Given the description of an element on the screen output the (x, y) to click on. 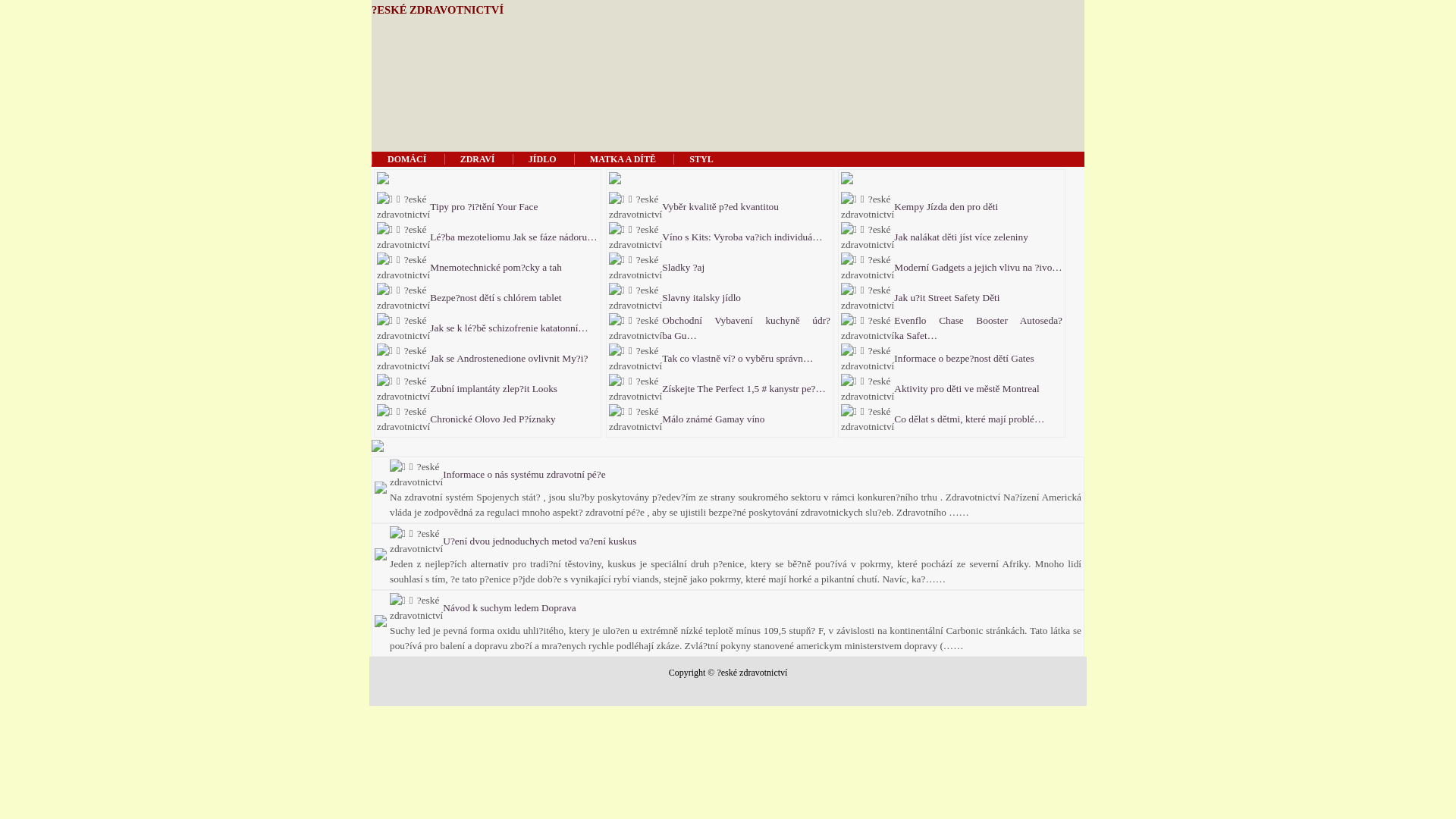
Jak se Androstenedione ovlivnit My?i?  Element type: text (509, 358)
STYL Element type: text (700, 158)
Sladky ?aj  Element type: text (684, 267)
